Given the description of an element on the screen output the (x, y) to click on. 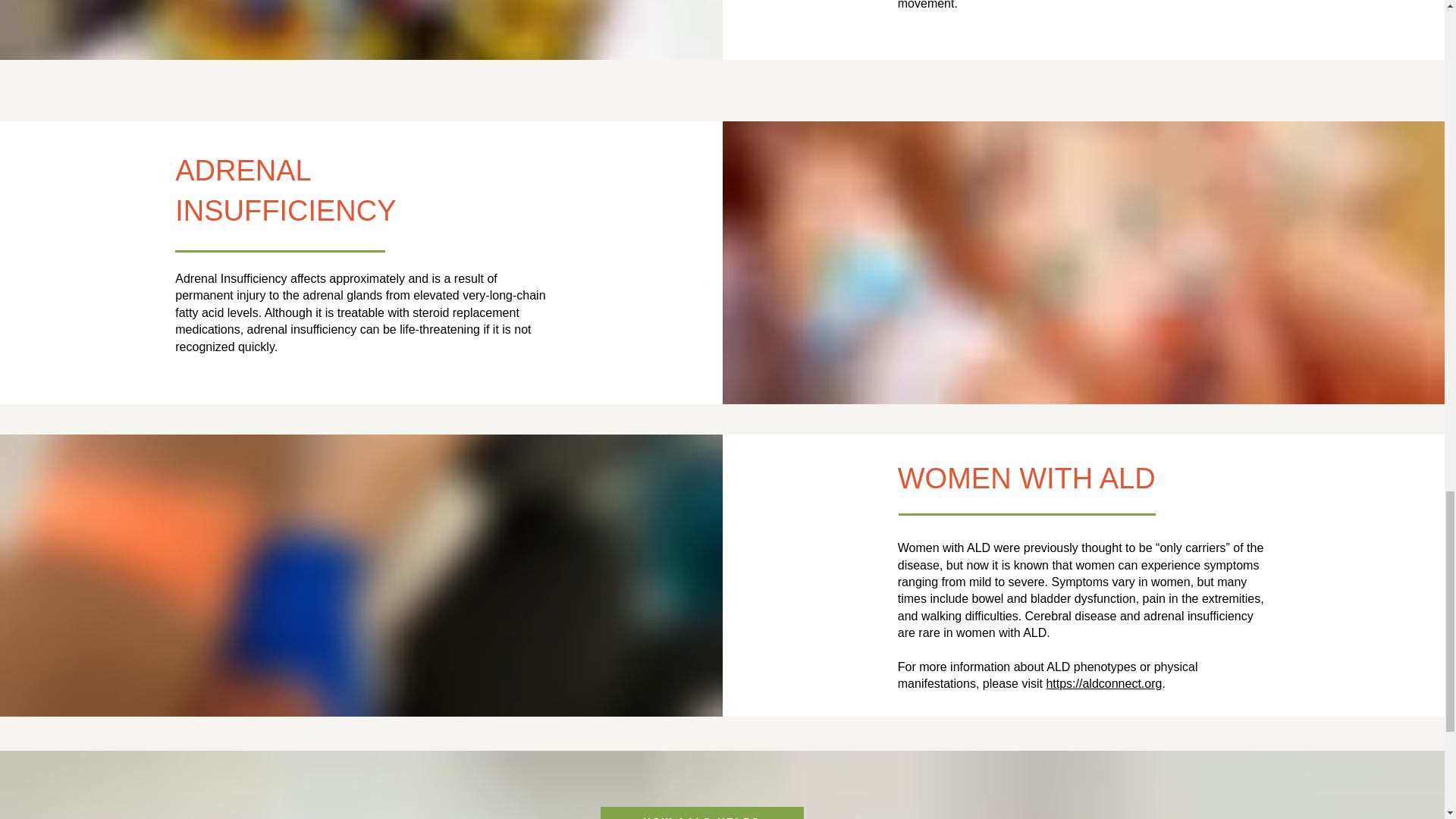
HOW AALD HELPS (701, 812)
